Given the description of an element on the screen output the (x, y) to click on. 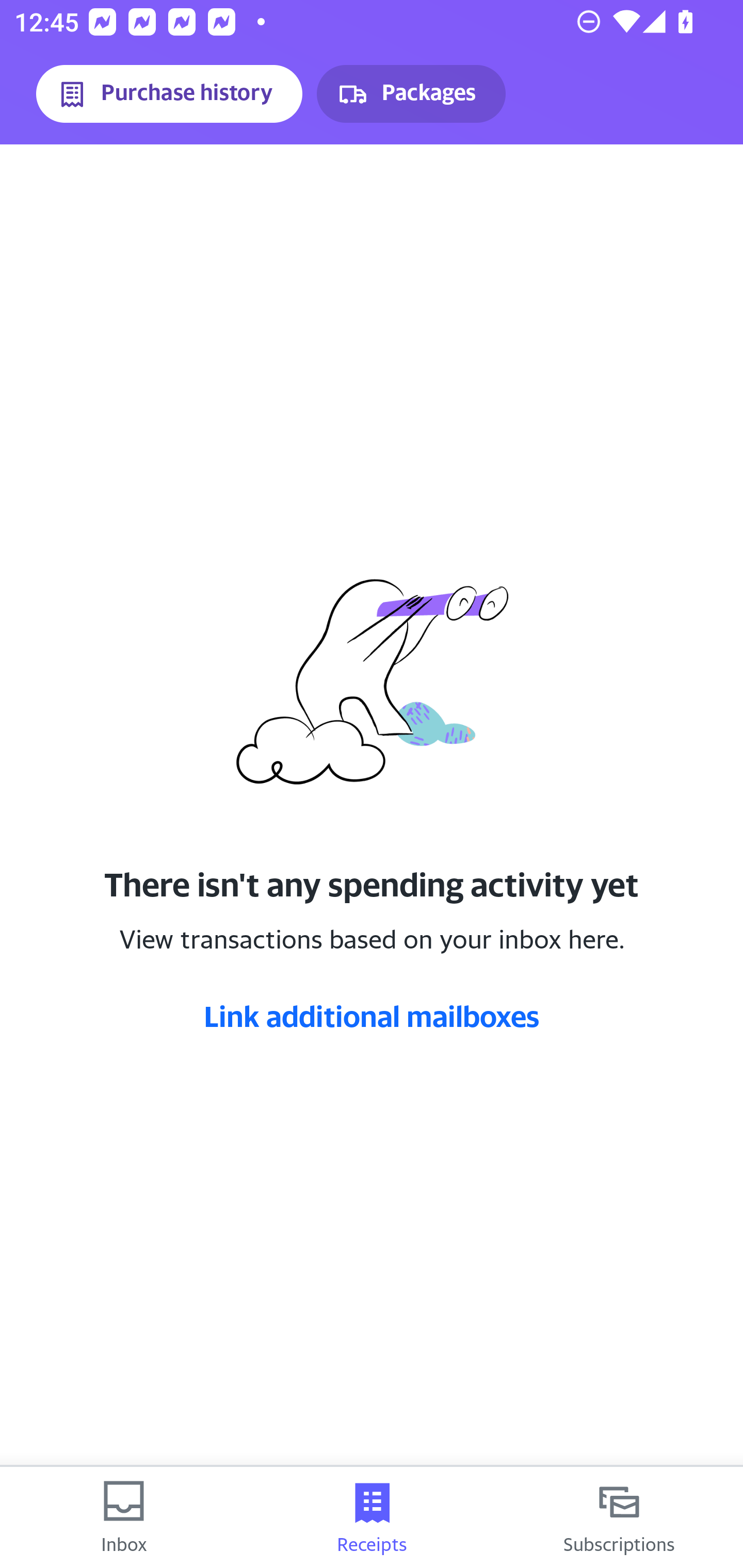
Packages (410, 93)
Link additional mailboxes (371, 1015)
Inbox (123, 1517)
Receipts (371, 1517)
Subscriptions (619, 1517)
